Given the description of an element on the screen output the (x, y) to click on. 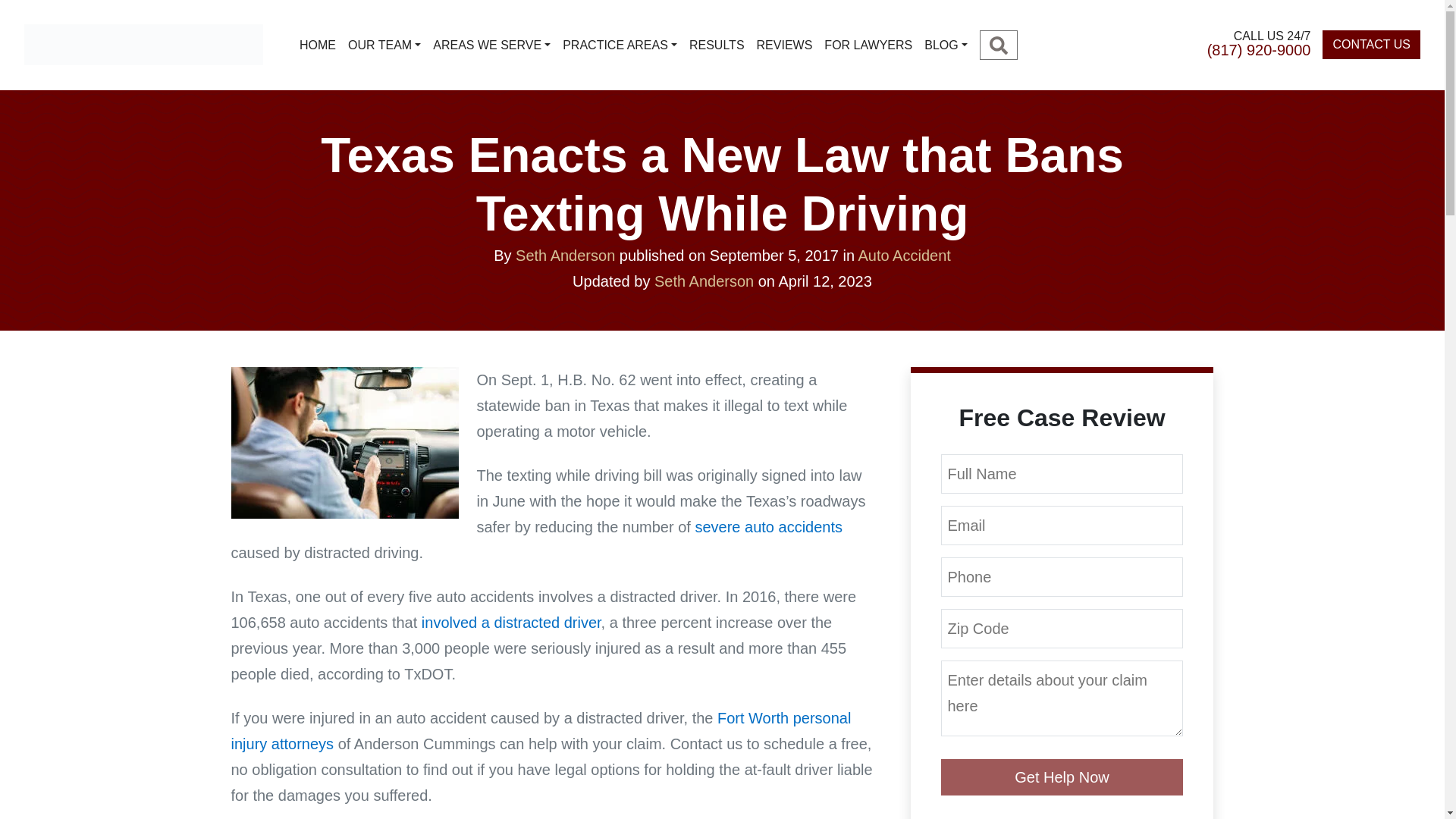
PRACTICE AREAS (619, 44)
OUR TEAM (384, 44)
HOME (318, 44)
AREAS WE SERVE (491, 44)
Get Help Now (1061, 777)
